Given the description of an element on the screen output the (x, y) to click on. 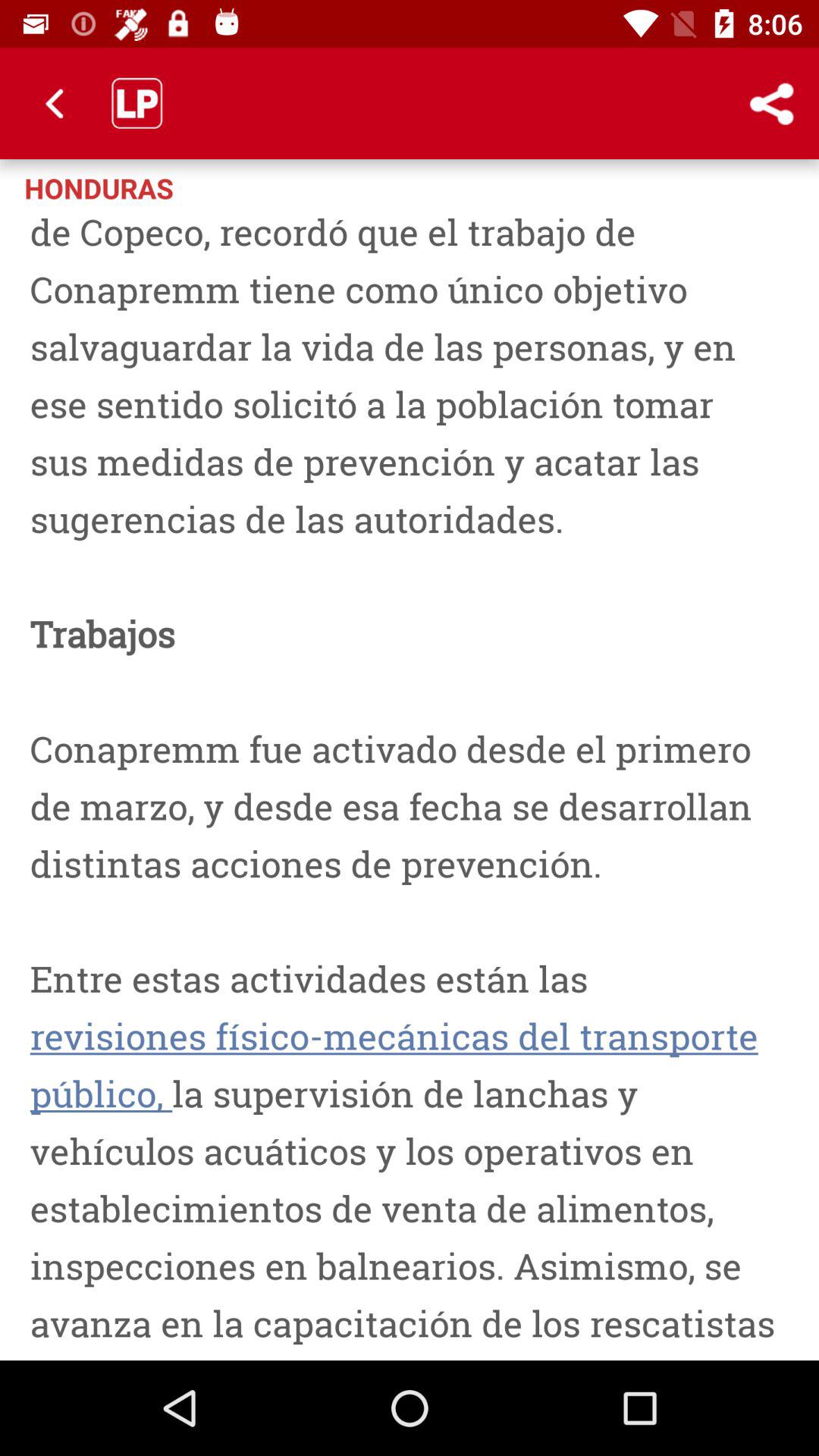
tap the icon to the right of honduras (771, 103)
